Given the description of an element on the screen output the (x, y) to click on. 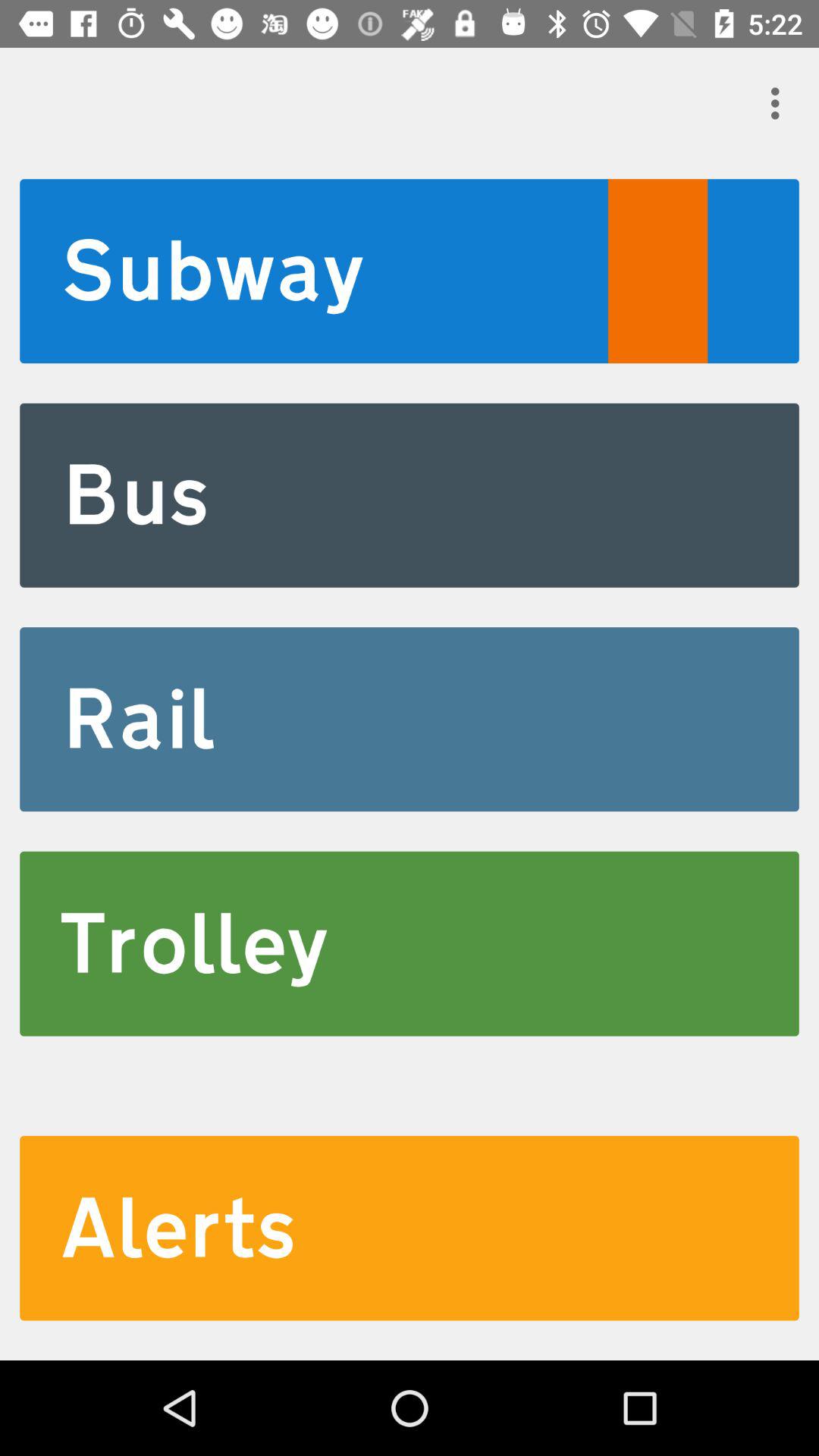
swipe to the rail icon (409, 719)
